Given the description of an element on the screen output the (x, y) to click on. 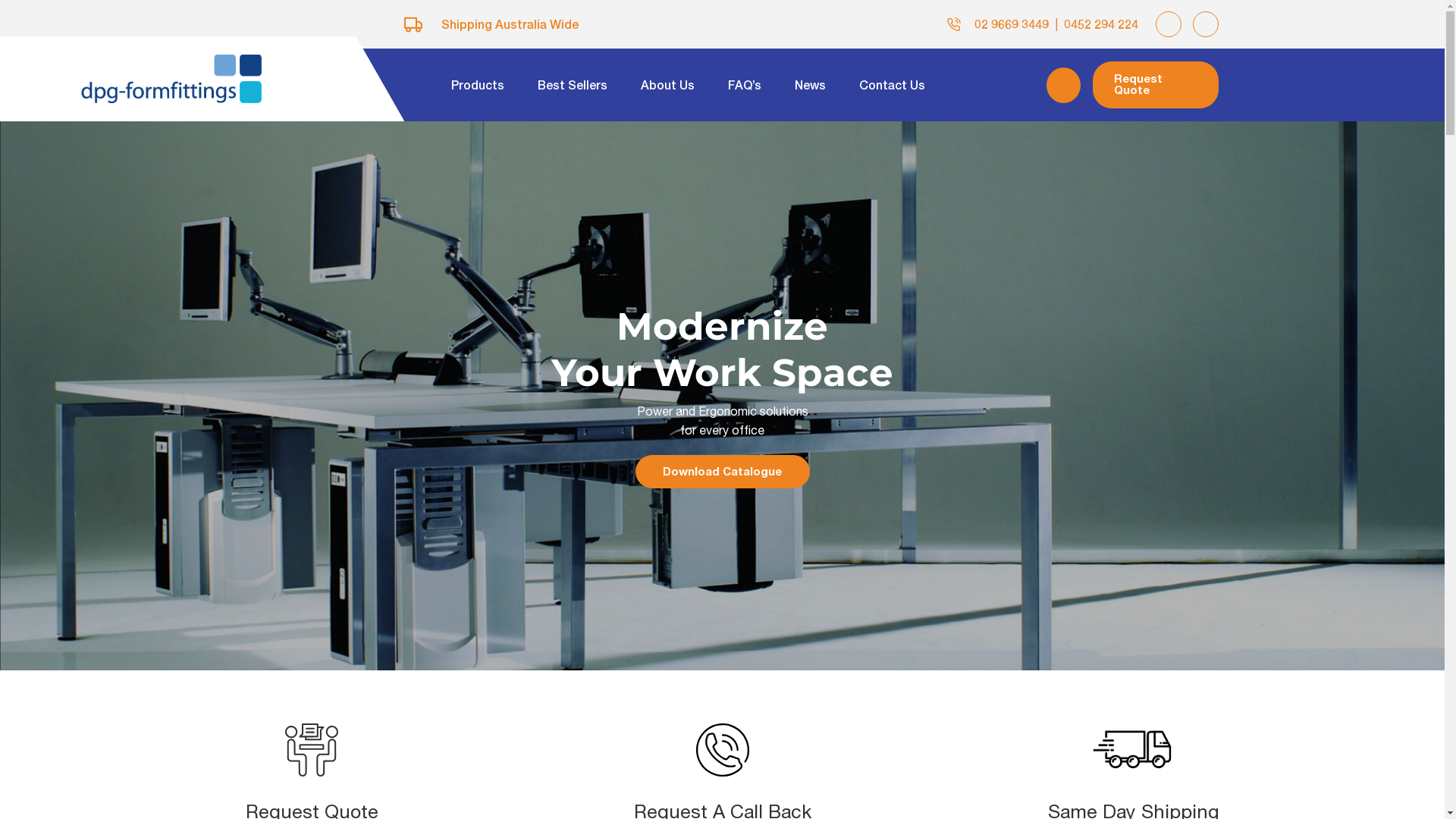
Contact Us Element type: text (892, 84)
News Element type: text (809, 84)
About Us Element type: text (667, 84)
Request Quote Element type: text (1155, 84)
Products Element type: text (477, 84)
0452 294 224 Element type: text (1100, 23)
Download Catalogue Element type: text (722, 471)
02 9669 3449 Element type: text (1011, 23)
Best Sellers Element type: text (572, 84)
